Given the description of an element on the screen output the (x, y) to click on. 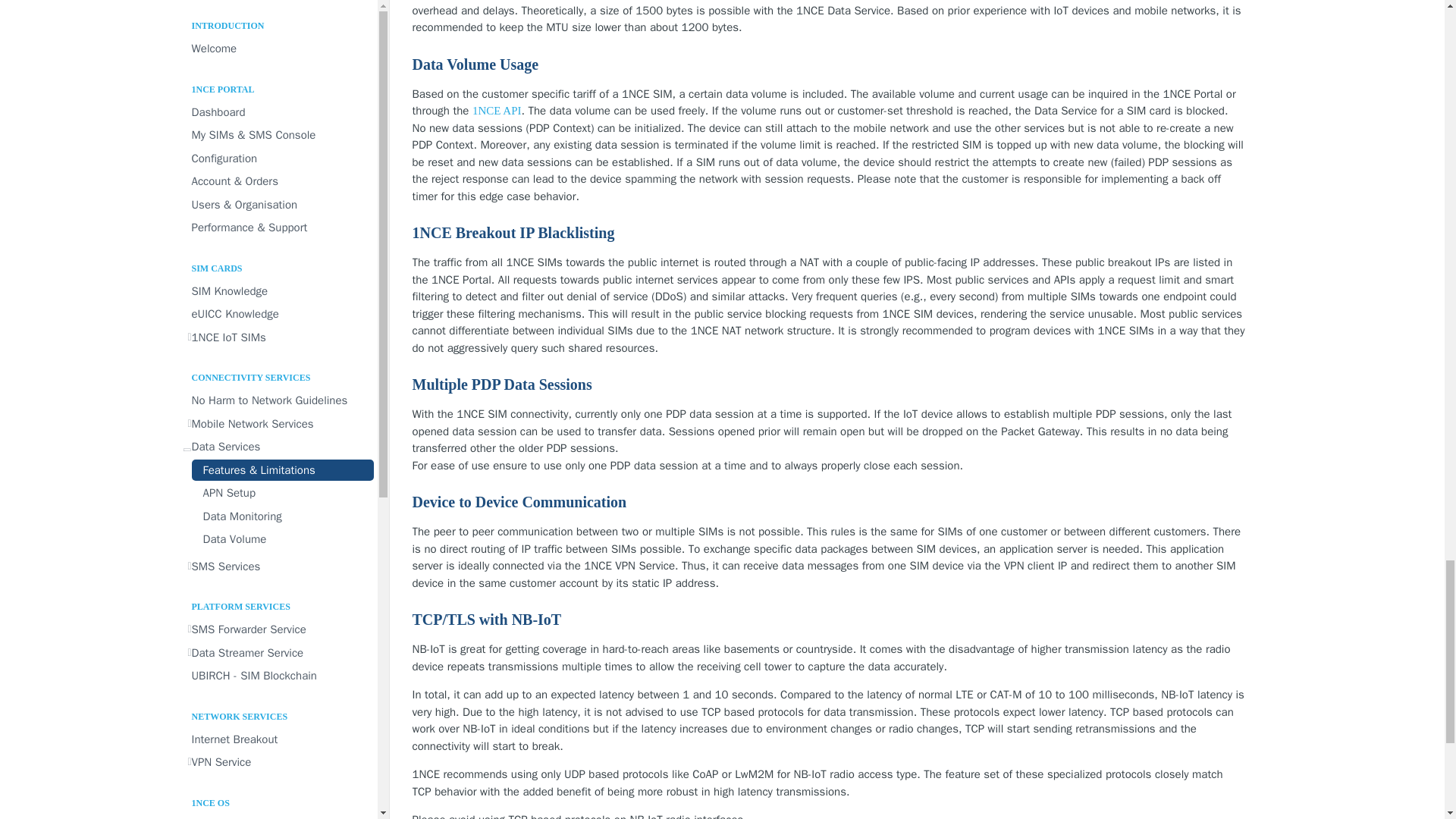
Data Volume Usage (828, 64)
Device to Device Communication (828, 502)
Multiple PDP Data Sessions (828, 384)
1NCE Breakout IP Blacklisting (828, 232)
